Given the description of an element on the screen output the (x, y) to click on. 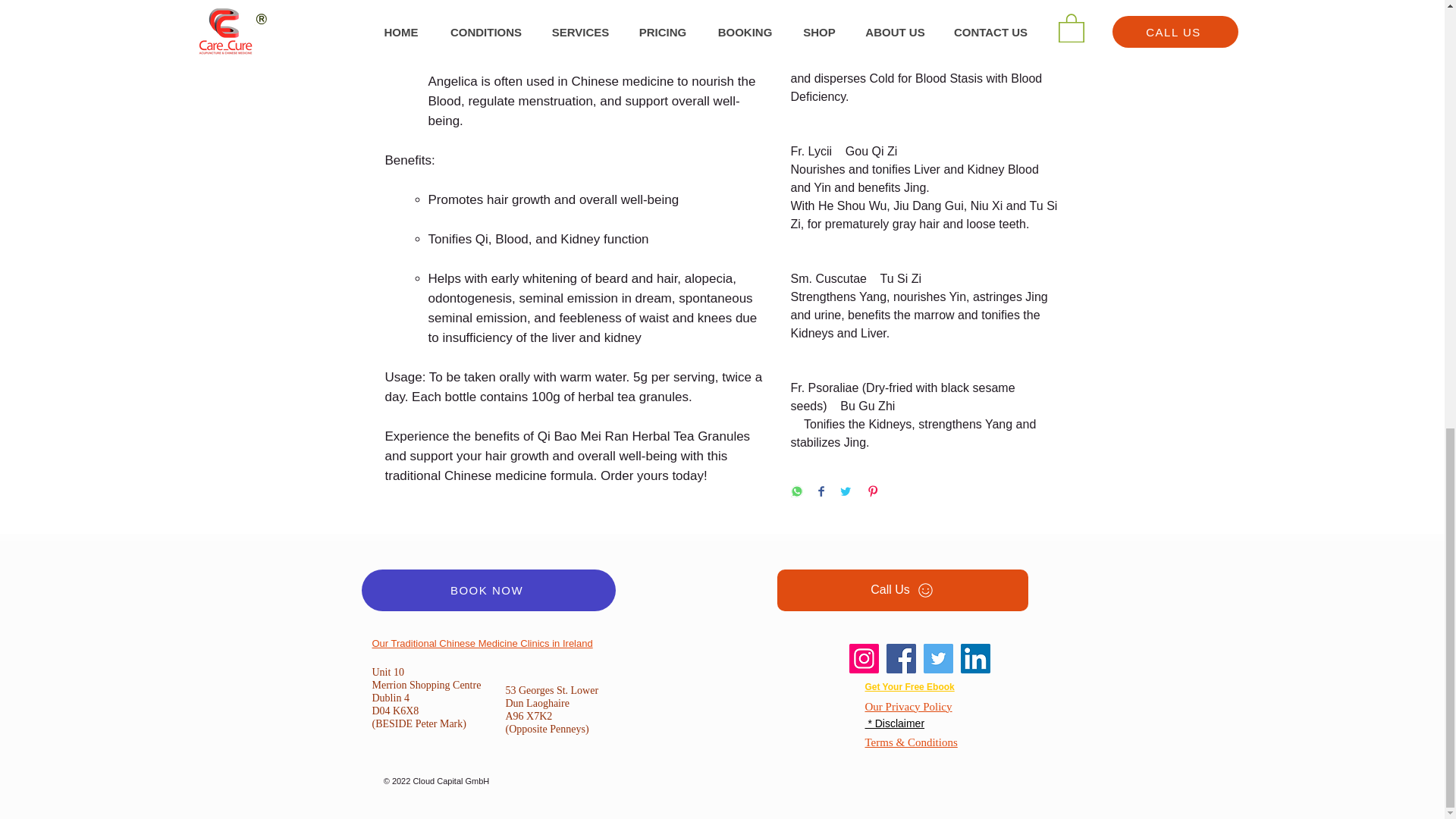
BOOK NOW (487, 589)
